Given the description of an element on the screen output the (x, y) to click on. 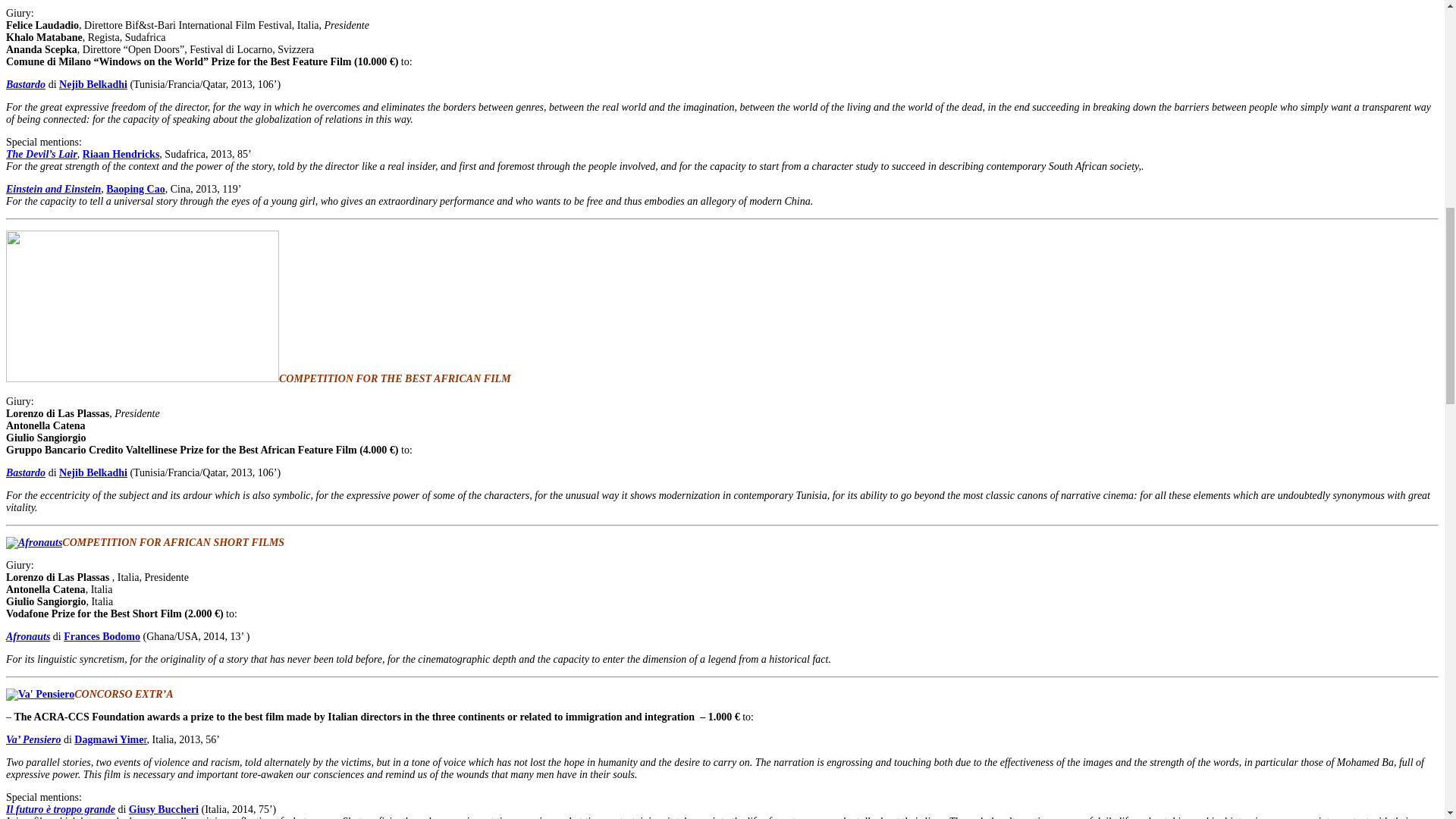
Nejib Belkadhi (93, 84)
Baoping Cao (135, 188)
Riaan Hendricks (121, 153)
Frances Bodomo (101, 636)
Bastardo (25, 84)
Bastardo (25, 472)
Giusy Buccheri (163, 808)
Cao Baoping (135, 188)
Riaan Hendricks (121, 153)
Nejib Belkadhi (93, 472)
Dagmawi Yimer (110, 739)
Belkadhi Nejib (93, 472)
Belkadhi Nejib (93, 84)
Einstein and Einstein (52, 188)
Afronauts (27, 636)
